Given the description of an element on the screen output the (x, y) to click on. 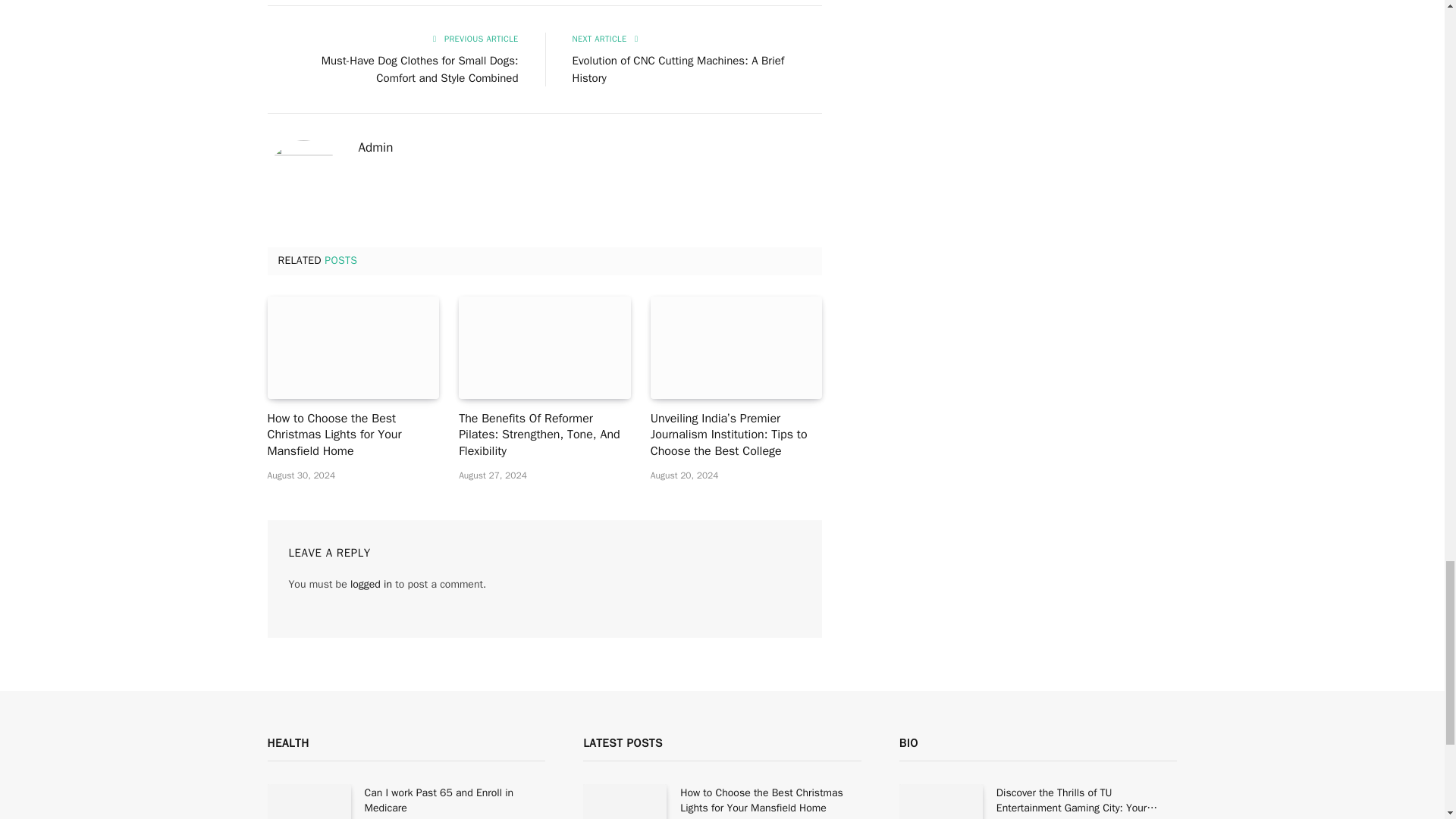
Admin (375, 147)
Evolution of CNC Cutting Machines: A Brief History (678, 69)
